Given the description of an element on the screen output the (x, y) to click on. 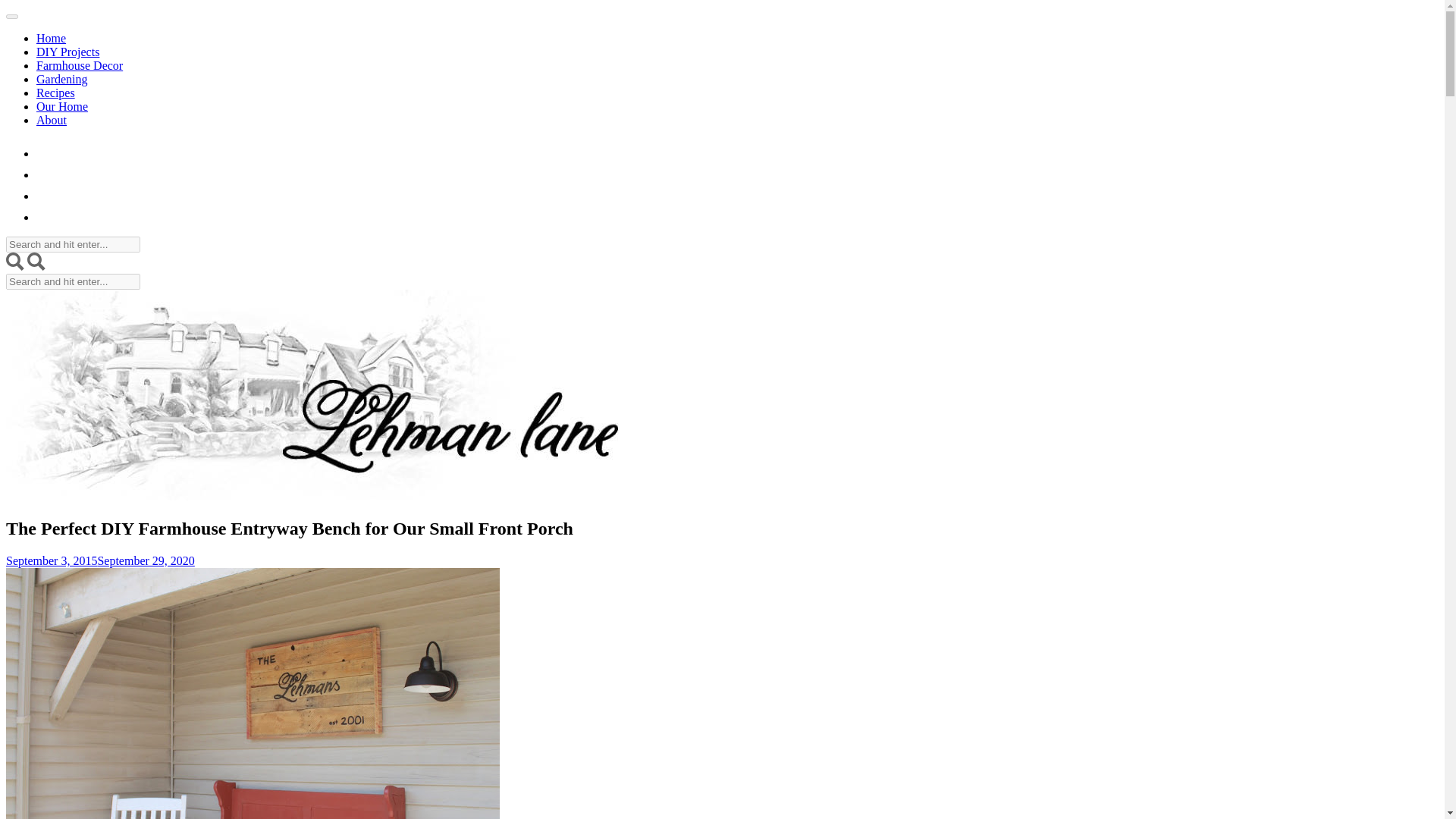
Farmhouse Decor (79, 65)
Our Home (61, 106)
Gardening (61, 78)
Home (50, 38)
DIY Projects (67, 51)
September 3, 2015September 29, 2020 (100, 560)
Recipes (55, 92)
About (51, 119)
